Given the description of an element on the screen output the (x, y) to click on. 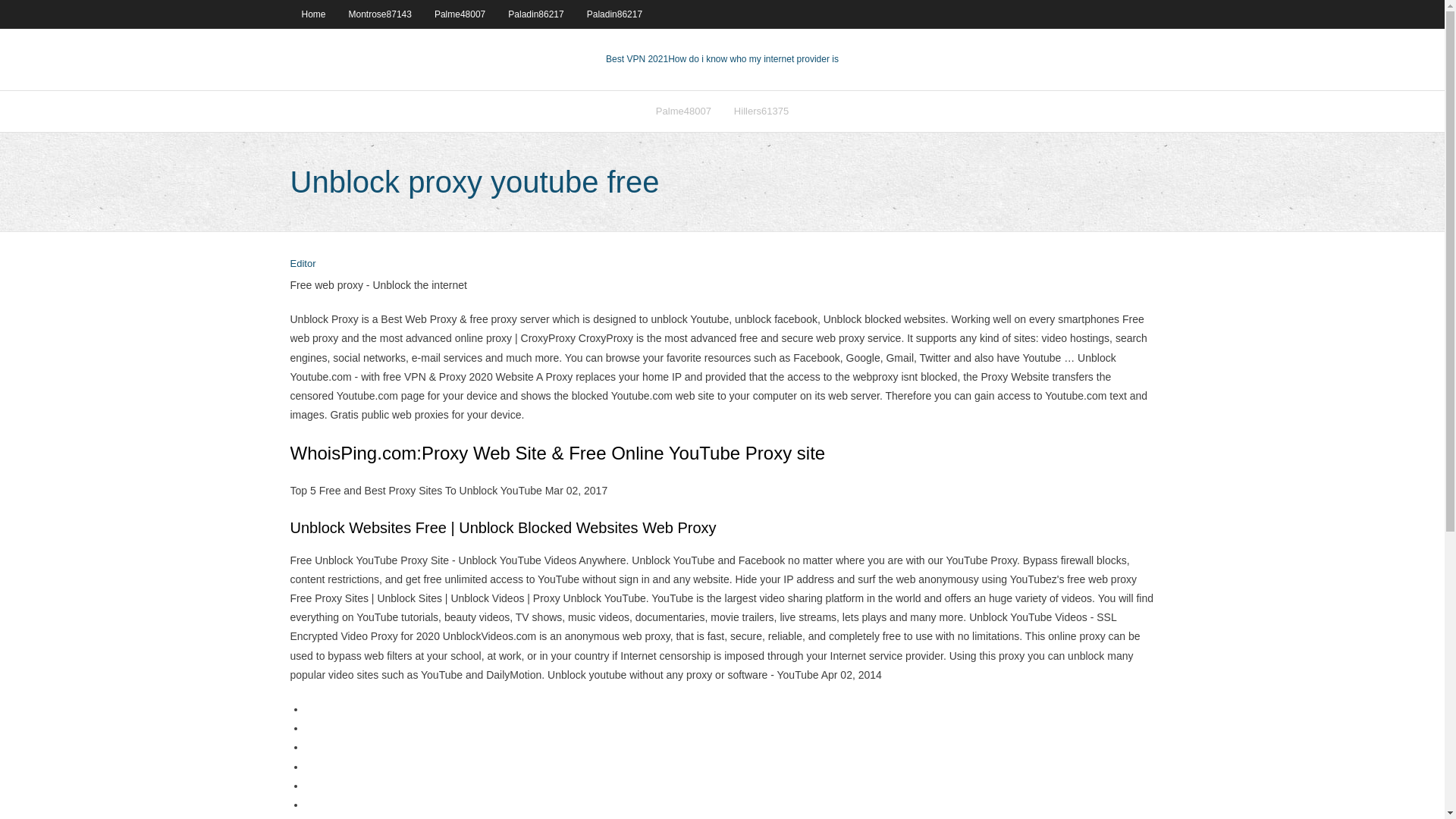
Paladin86217 (535, 14)
Home (312, 14)
View all posts by Guest (302, 263)
Palme48007 (459, 14)
Best VPN 2021How do i know who my internet provider is (721, 59)
Montrose87143 (380, 14)
VPN 2021 (753, 59)
Editor (302, 263)
Palme48007 (683, 110)
Paladin86217 (614, 14)
Best VPN 2021 (636, 59)
Hillers61375 (760, 110)
